Given the description of an element on the screen output the (x, y) to click on. 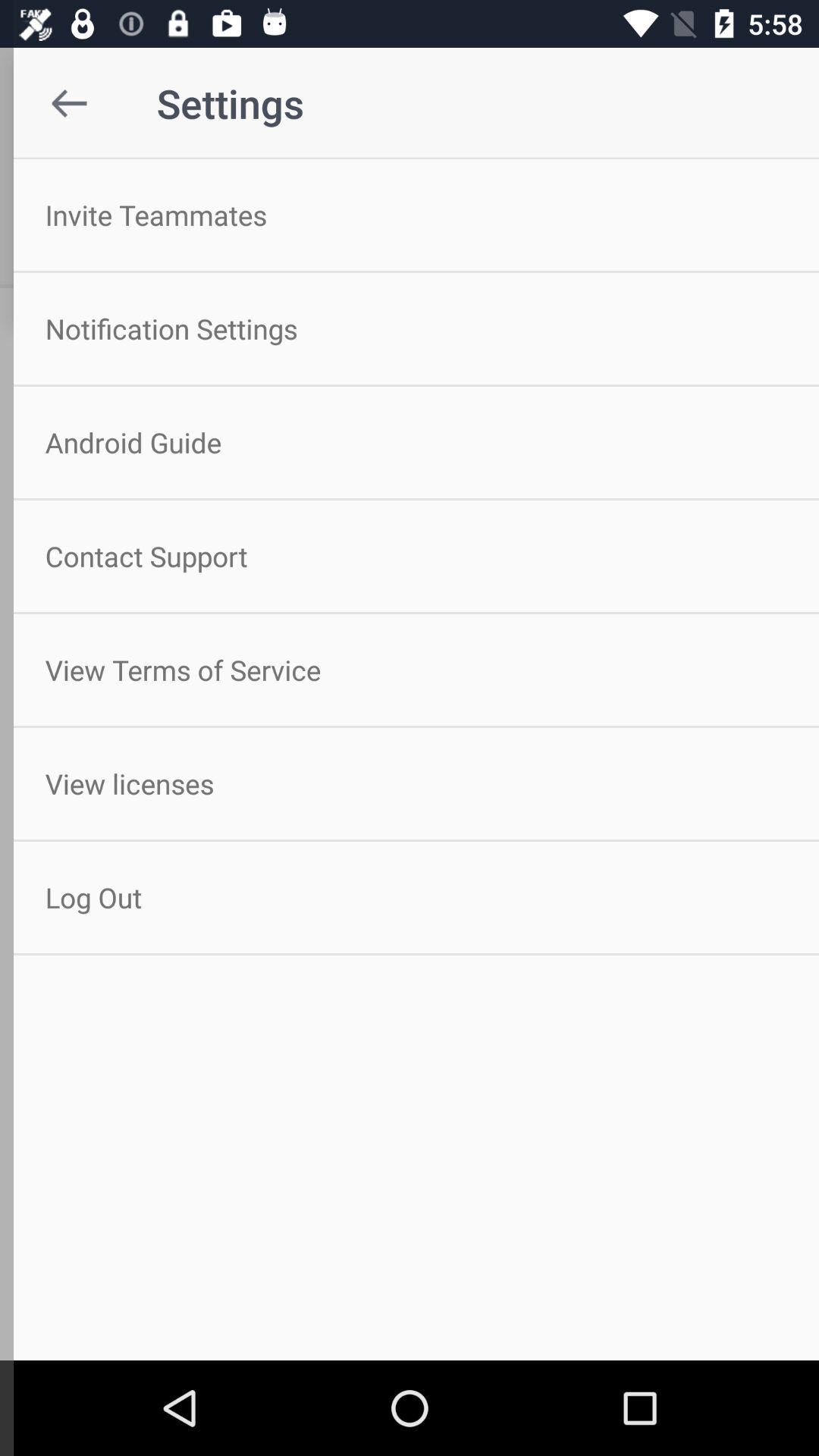
click item to the left of the settings icon (55, 103)
